Given the description of an element on the screen output the (x, y) to click on. 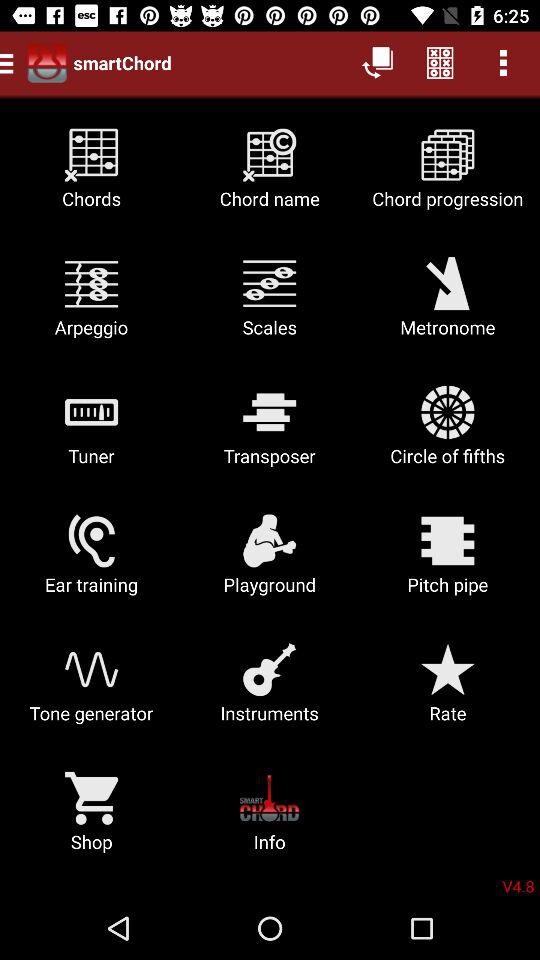
turn on the icon below the tone generator icon (91, 818)
